Given the description of an element on the screen output the (x, y) to click on. 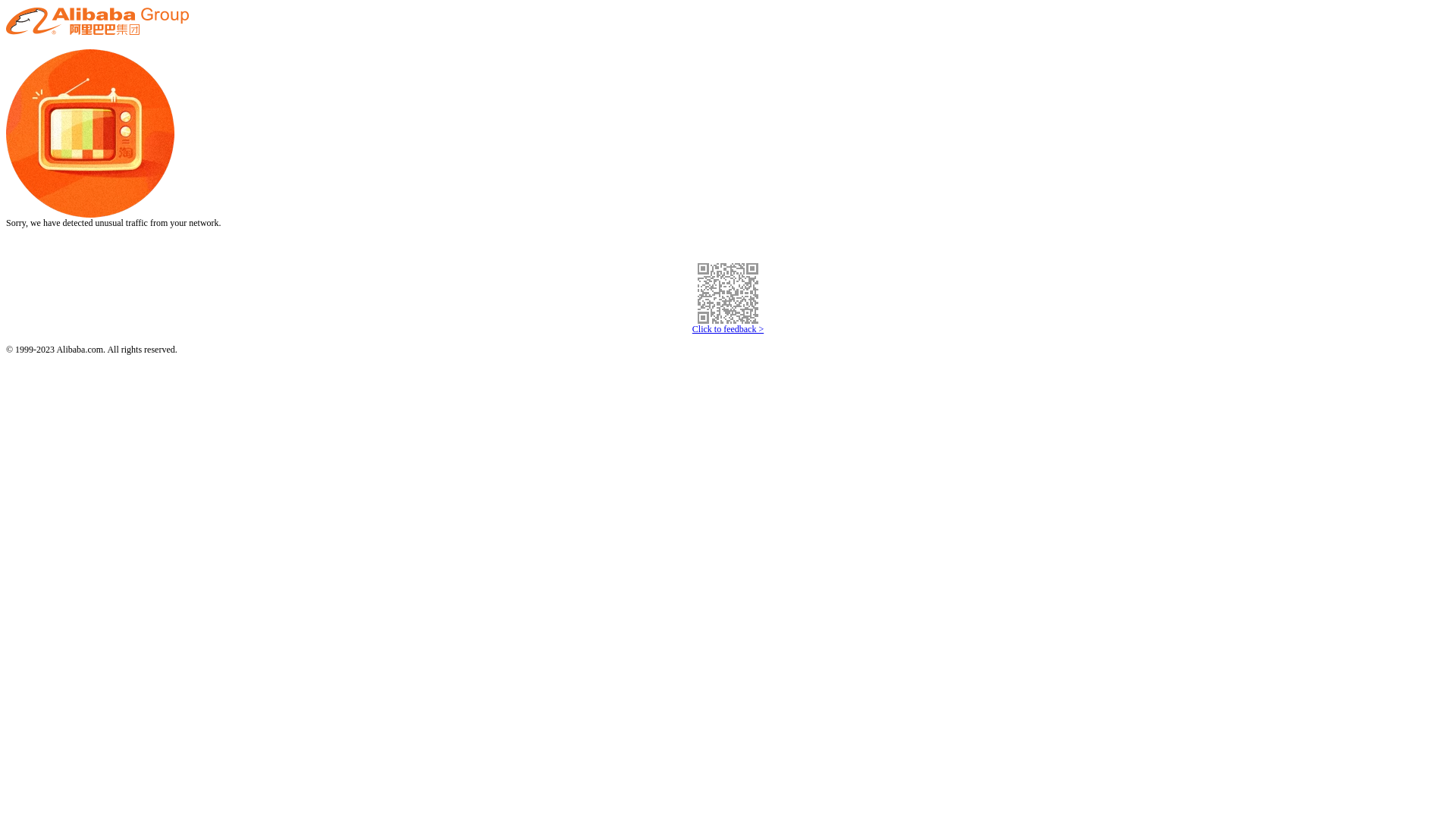
Click to feedback > Element type: text (727, 328)
9gKUFtMBv64fOrr-O5skVw|ZWIk5A|gqtLDQ_0 Element type: hover (727, 293)
